Given the description of an element on the screen output the (x, y) to click on. 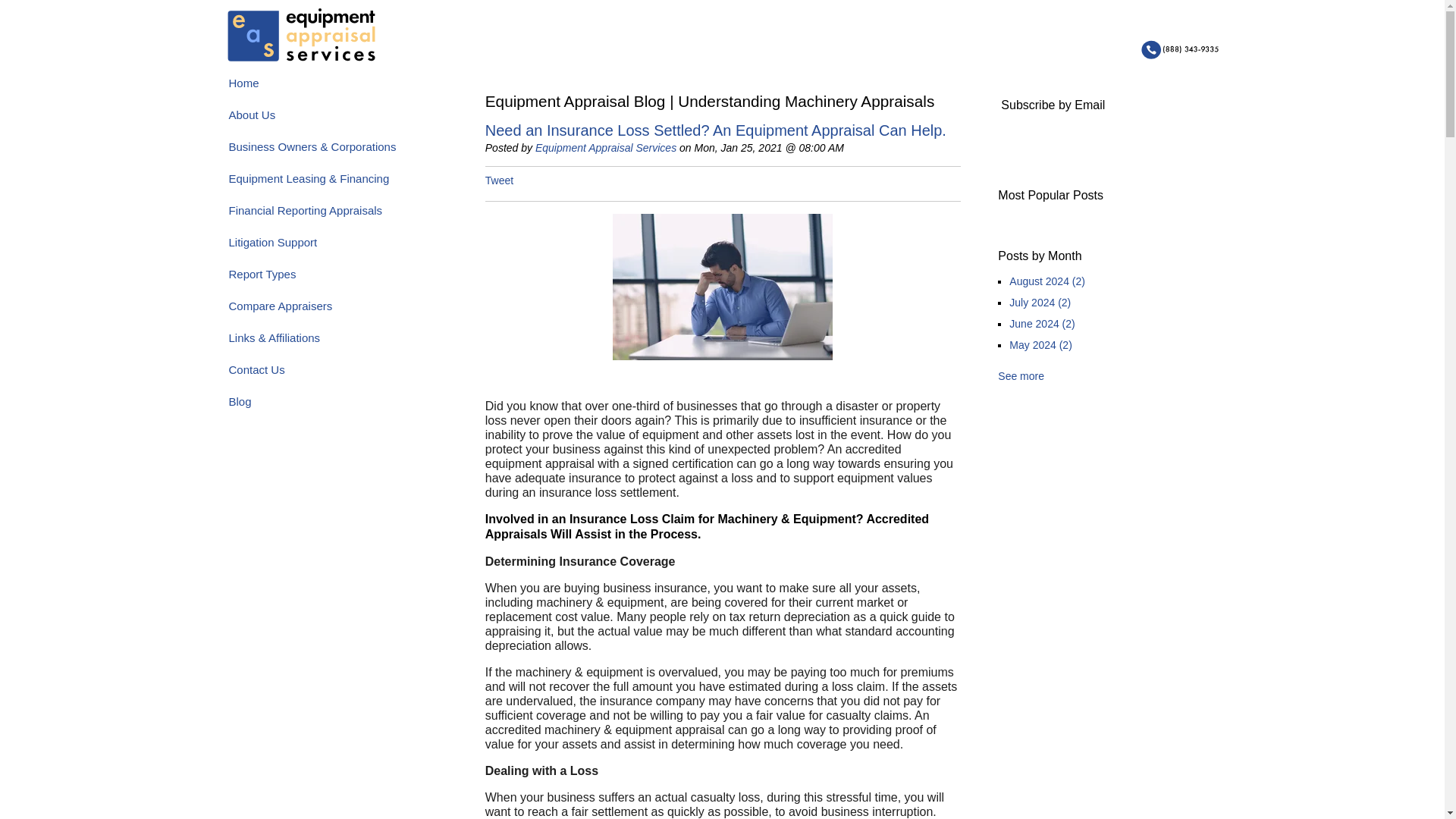
Compare Appraisers (336, 311)
Blog (336, 406)
About Us (336, 120)
Home (336, 88)
Tweet (498, 180)
Equipment Appraisal Services (606, 147)
Machinery and Equipment Appraisals (300, 35)
Contact Us (336, 375)
Litigation Support (336, 247)
